Given the description of an element on the screen output the (x, y) to click on. 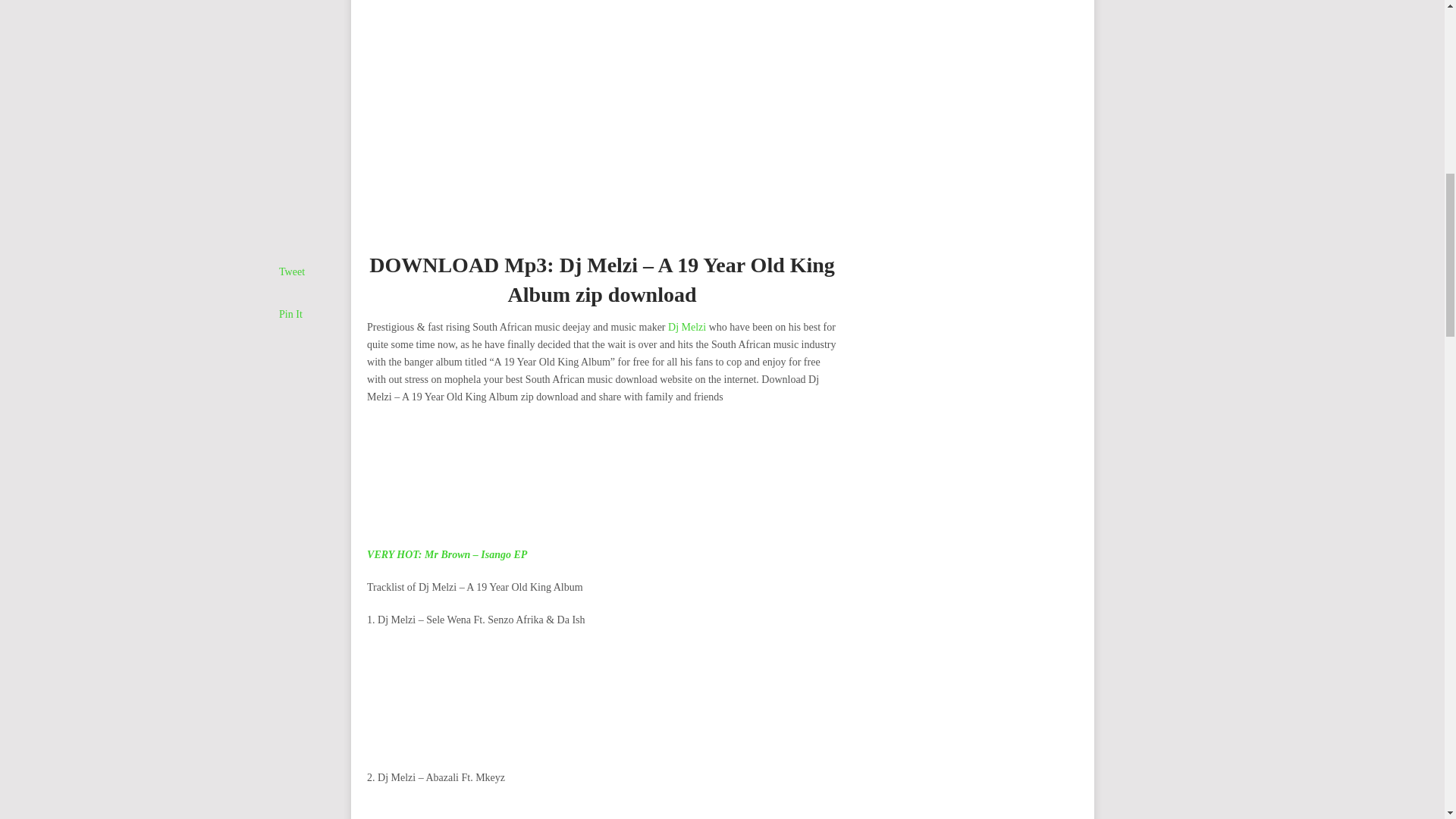
Advertisement (601, 479)
Advertisement (601, 810)
Advertisement (601, 702)
Dj Melzi (687, 326)
